Given the description of an element on the screen output the (x, y) to click on. 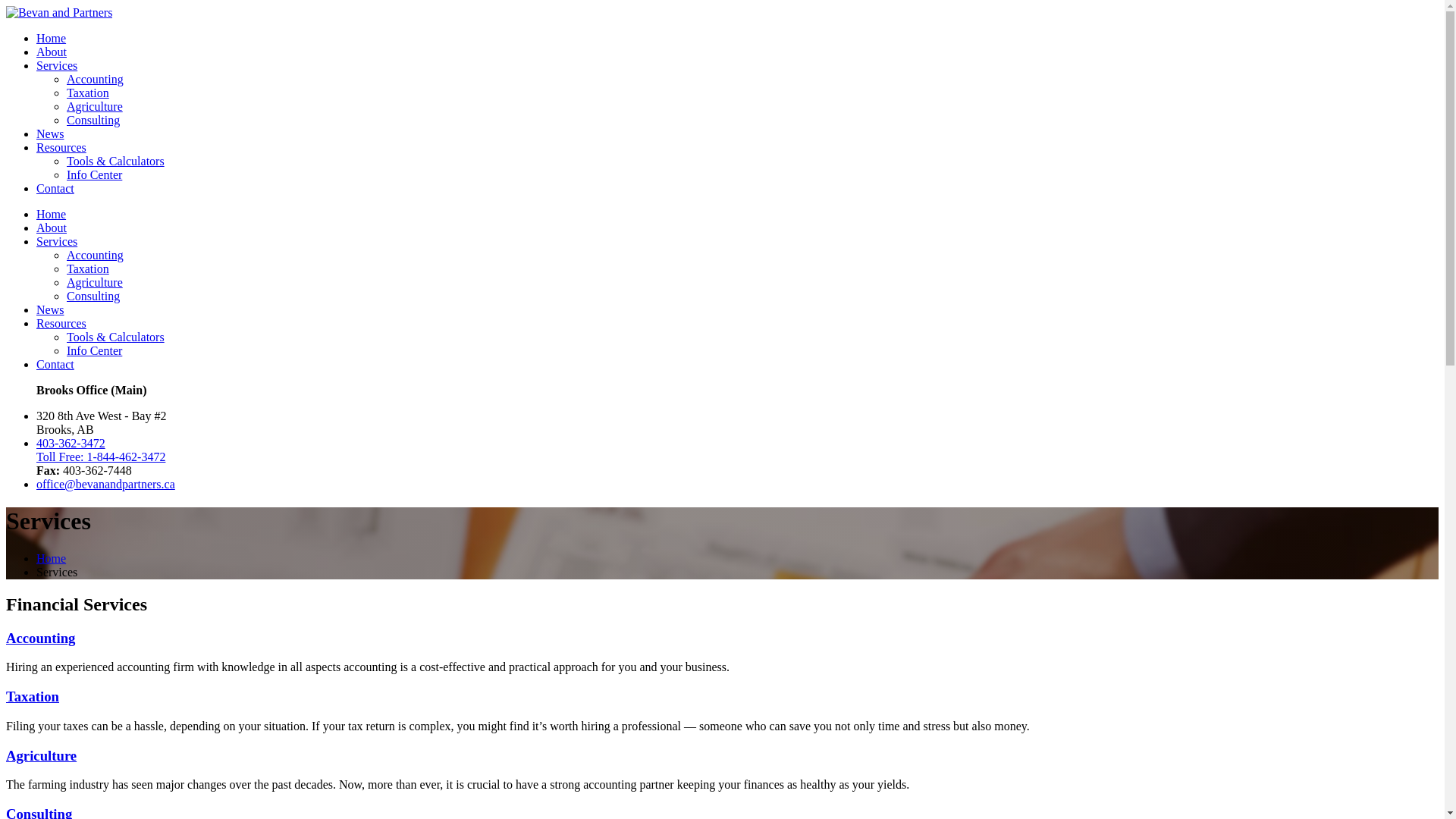
Accounting Element type: text (94, 78)
Contact Element type: text (55, 188)
Toll Free: 1-844-462-3472 Element type: text (100, 456)
News Element type: text (49, 309)
Accounting Element type: text (94, 254)
Taxation Element type: text (87, 268)
Agriculture Element type: text (41, 755)
Consulting Element type: text (92, 119)
Home Element type: text (50, 213)
Accounting Element type: text (40, 638)
About Element type: text (51, 51)
Tools & Calculators Element type: text (115, 160)
Services Element type: text (56, 65)
Services Element type: text (56, 241)
Taxation Element type: text (87, 92)
Contact Element type: text (55, 363)
Resources Element type: text (61, 322)
Consulting Element type: text (92, 295)
Tools & Calculators Element type: text (115, 336)
News Element type: text (49, 133)
Info Center Element type: text (94, 350)
403-362-3472 Element type: text (70, 442)
Agriculture Element type: text (94, 282)
Home Element type: text (50, 558)
Info Center Element type: text (94, 174)
Resources Element type: text (61, 147)
Taxation Element type: text (32, 696)
Home Element type: text (50, 37)
Agriculture Element type: text (94, 106)
office@bevanandpartners.ca Element type: text (105, 483)
About Element type: text (51, 227)
